Given the description of an element on the screen output the (x, y) to click on. 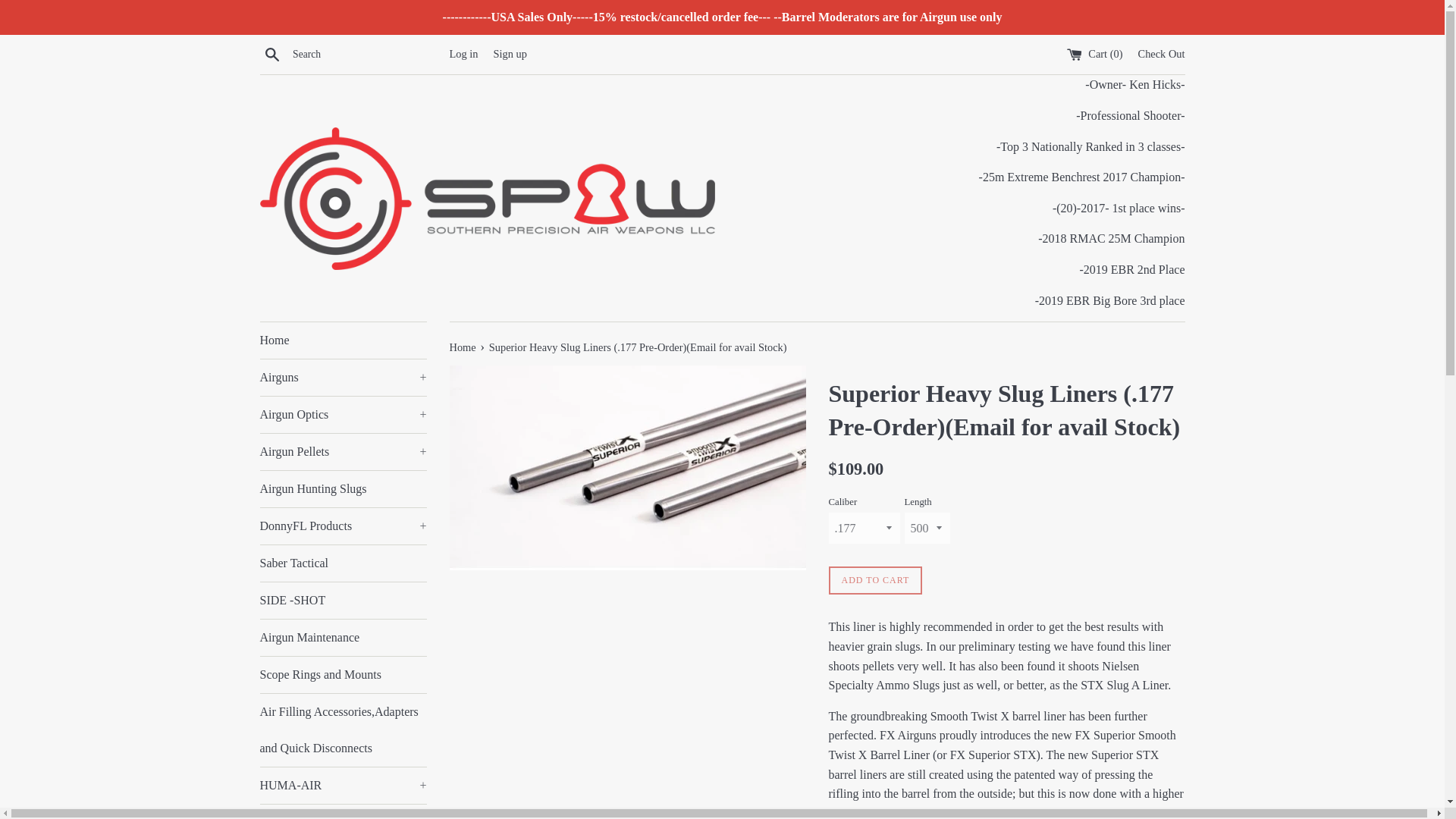
Scope Rings and Mounts (342, 674)
Airgun Hunting Slugs (342, 488)
Sign up (510, 53)
Back to the frontpage (463, 346)
Saber Tactical (342, 563)
Log in (462, 53)
Search (271, 53)
SIDE -SHOT (342, 600)
Check Out (1161, 53)
Home (342, 340)
Airgun Maintenance (342, 637)
Air Filling Accessories,Adapters and Quick Disconnects (342, 729)
